Given the description of an element on the screen output the (x, y) to click on. 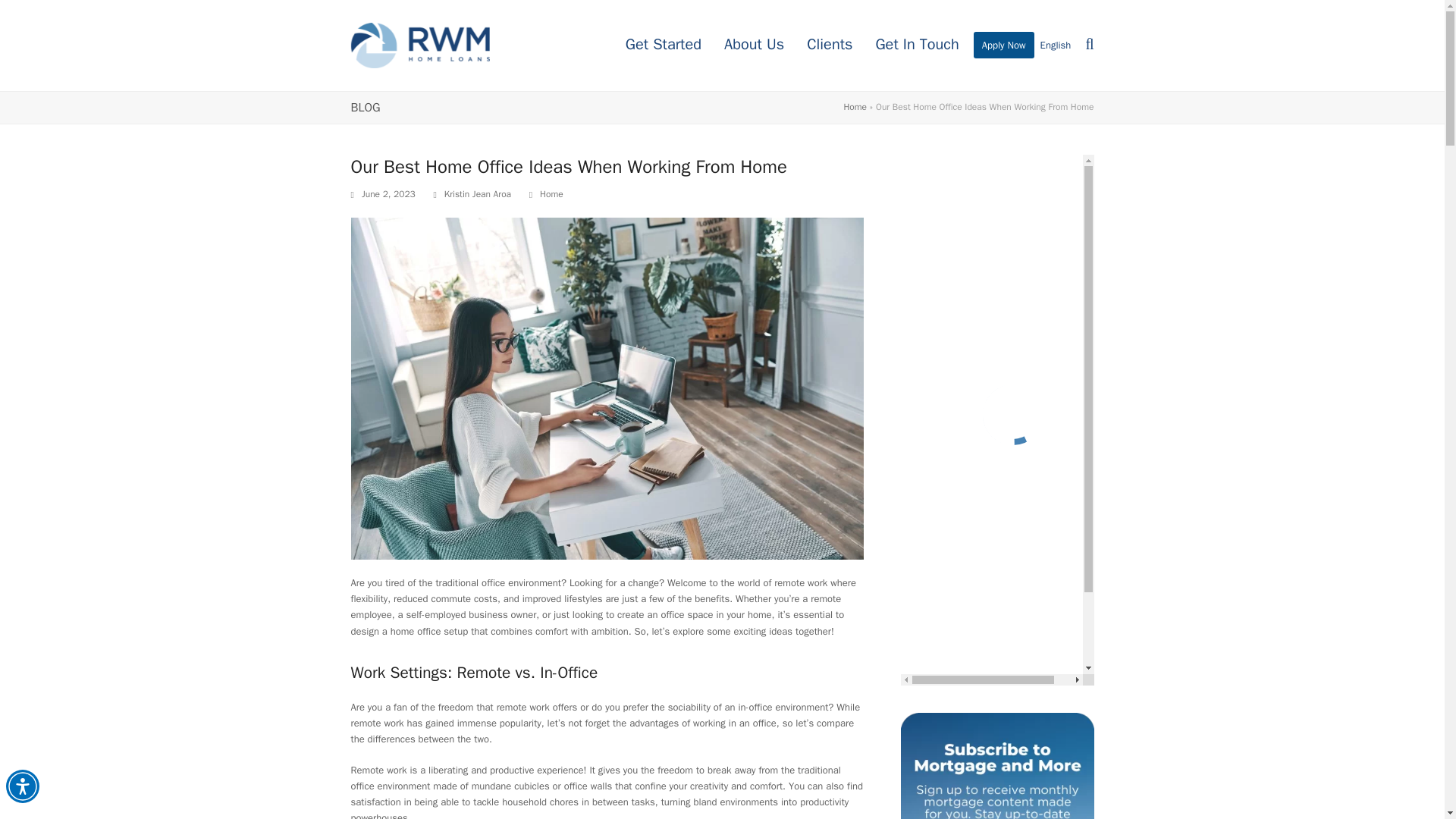
Kristin Jean Aroa (477, 193)
Apply Now (1003, 45)
Posts by Kristin Jean Aroa (477, 193)
Clients (828, 45)
English (1055, 45)
Get In Touch (916, 45)
About Us (753, 45)
Home (551, 193)
Get Started (663, 45)
Home (854, 106)
Accessibility Menu (22, 786)
